Given the description of an element on the screen output the (x, y) to click on. 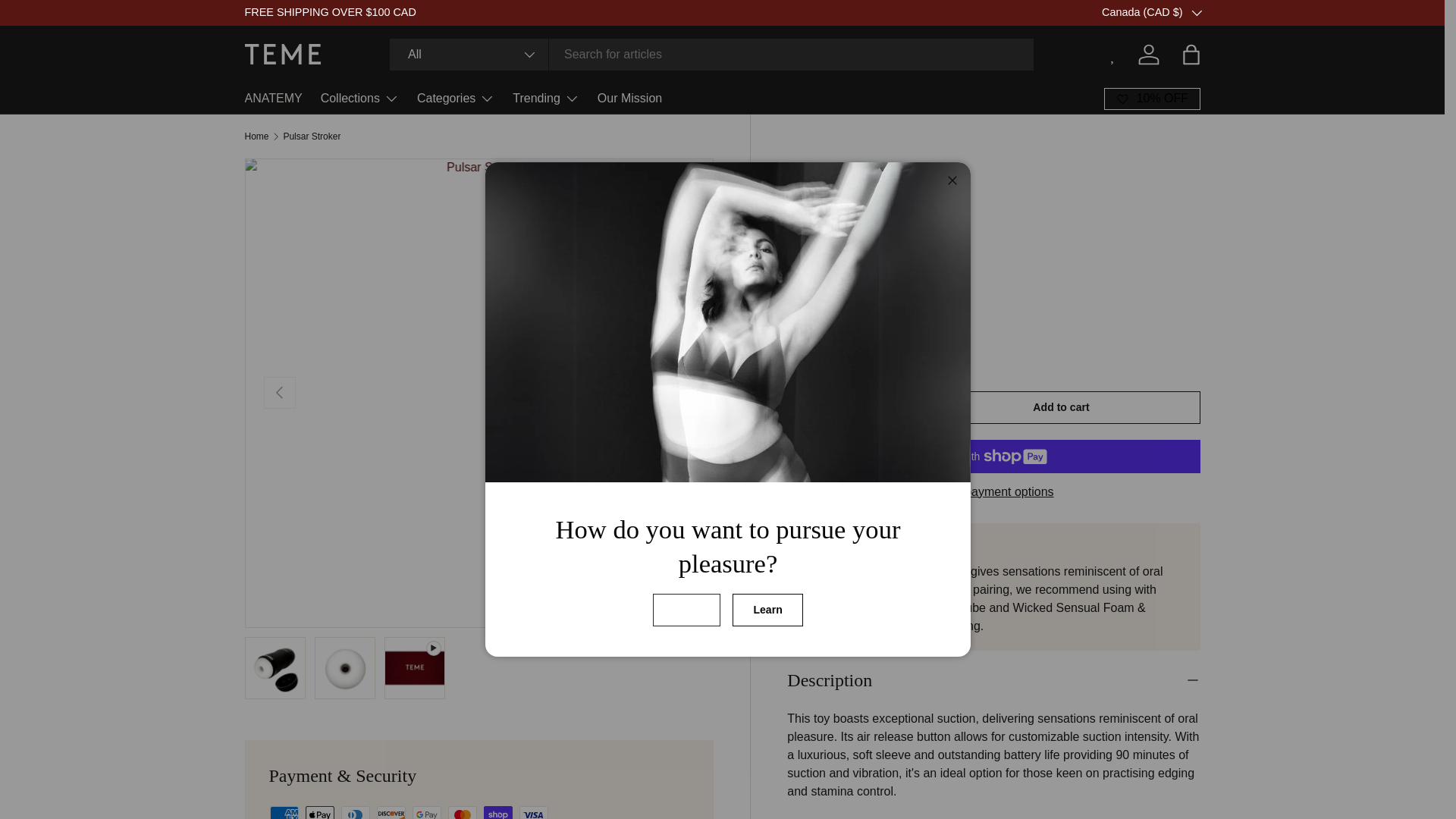
Bag (1190, 54)
All (469, 54)
ANATEMY (272, 98)
Trending (545, 98)
Log in (1147, 54)
Categories (455, 98)
Skip to content (68, 21)
LEARN MORE (1223, 11)
Duties Credit (1223, 11)
Collections (359, 98)
1 (848, 409)
